Given the description of an element on the screen output the (x, y) to click on. 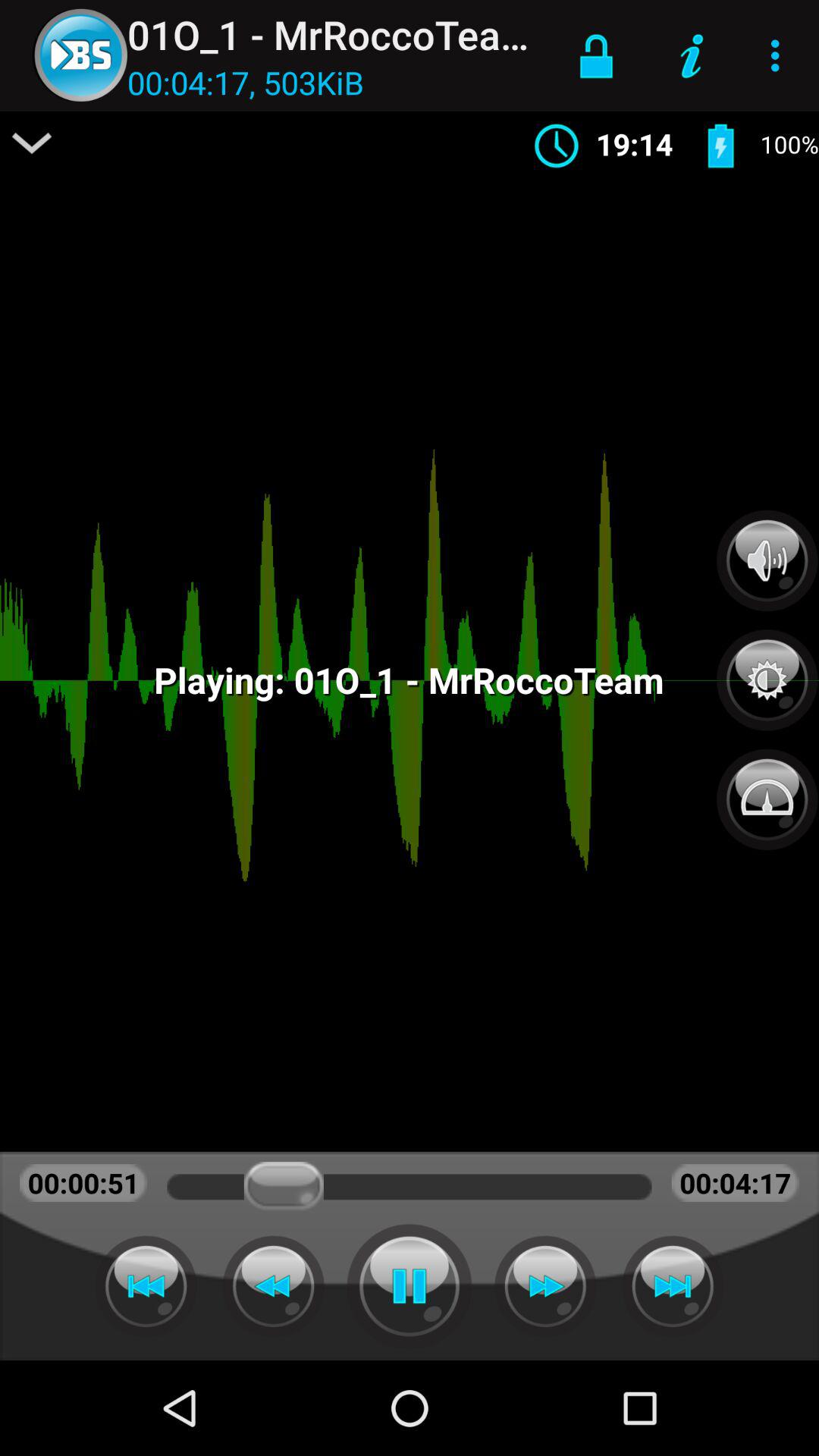
adjust sound (767, 560)
